Given the description of an element on the screen output the (x, y) to click on. 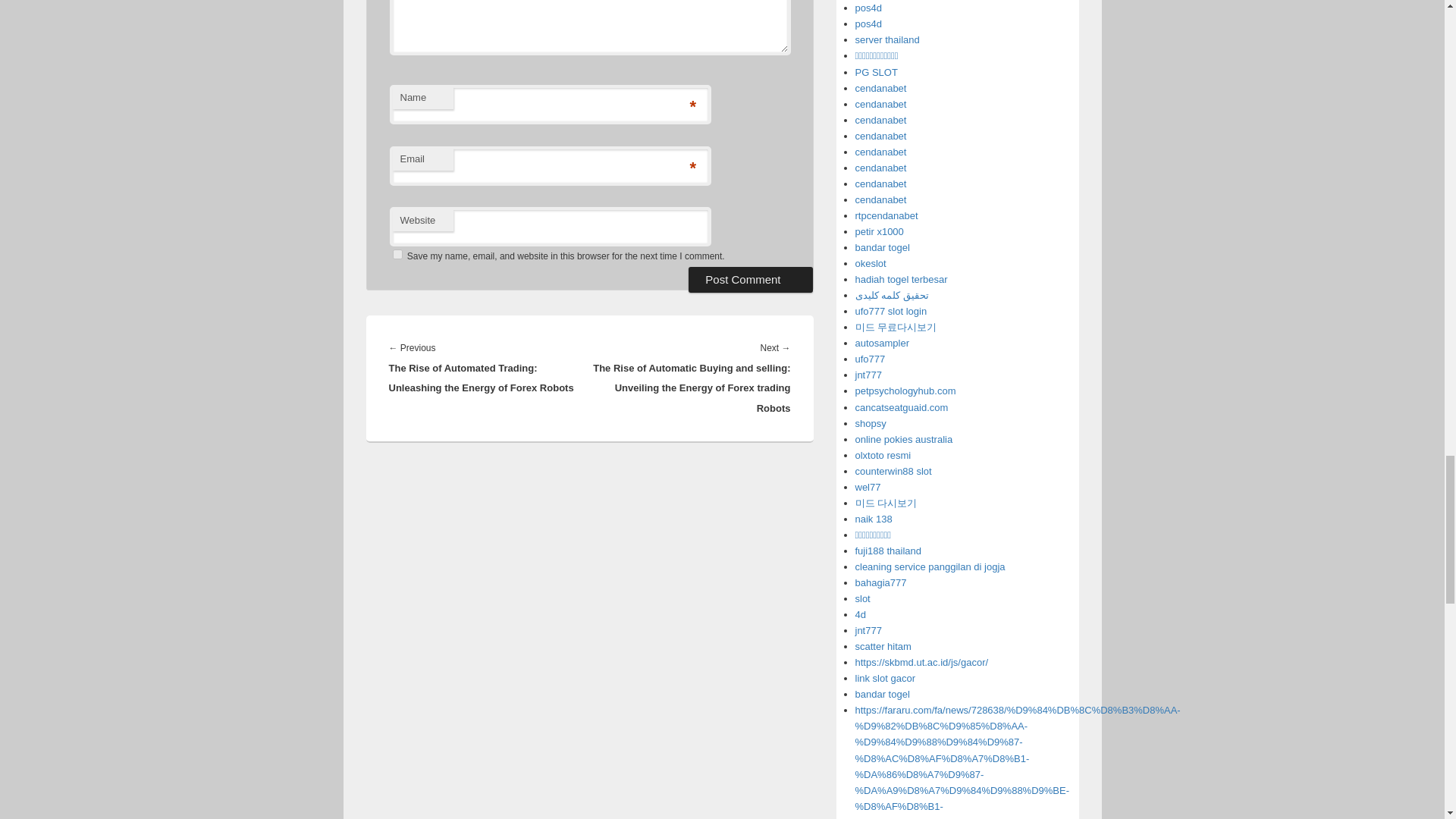
Post Comment (750, 279)
Post Comment (750, 279)
yes (398, 254)
